Given the description of an element on the screen output the (x, y) to click on. 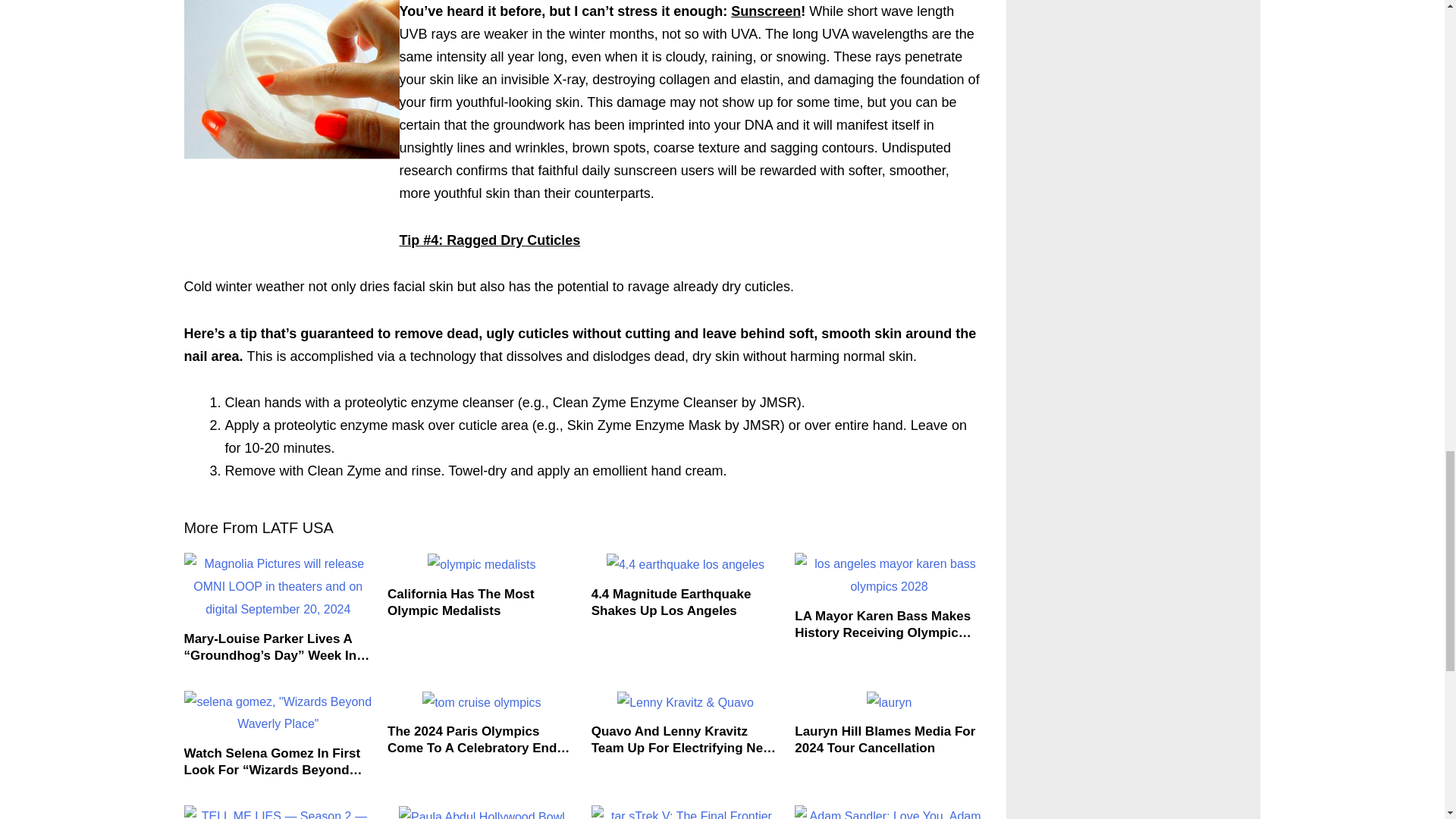
4.4 earthquake los angeles (685, 564)
lauryn (889, 702)
tom cruise olympics (481, 702)
los angeles mayor karen bass olympics 2028 (889, 574)
tar sTrek V: The Final Frontier and william shatner (685, 812)
adam sandler stand up comedy (889, 812)
TELL ME LIES (277, 812)
olympic medalists (481, 564)
Paula Abdul Hollywood Bowl (481, 812)
